Given the description of an element on the screen output the (x, y) to click on. 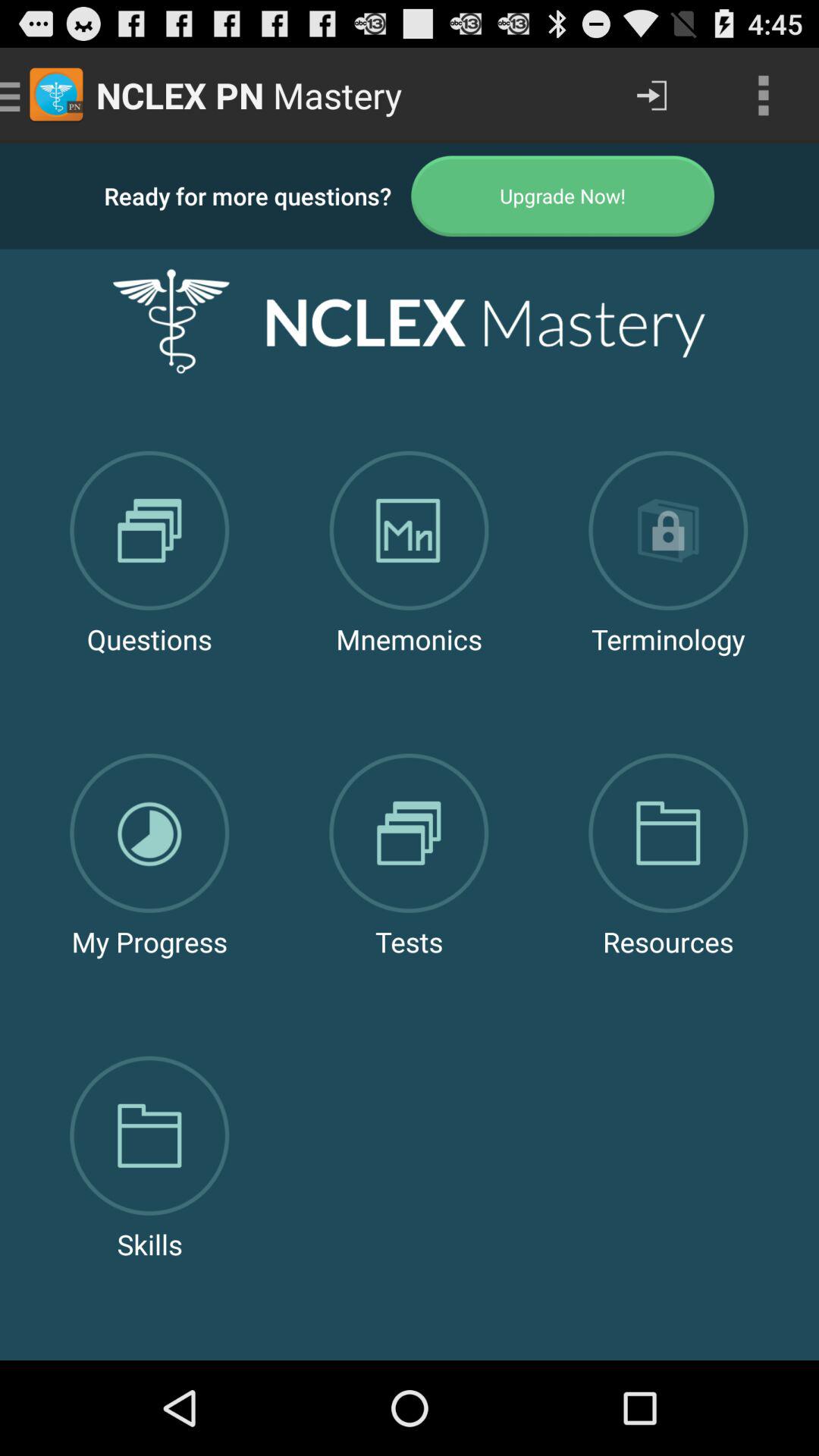
register account (562, 195)
